Given the description of an element on the screen output the (x, y) to click on. 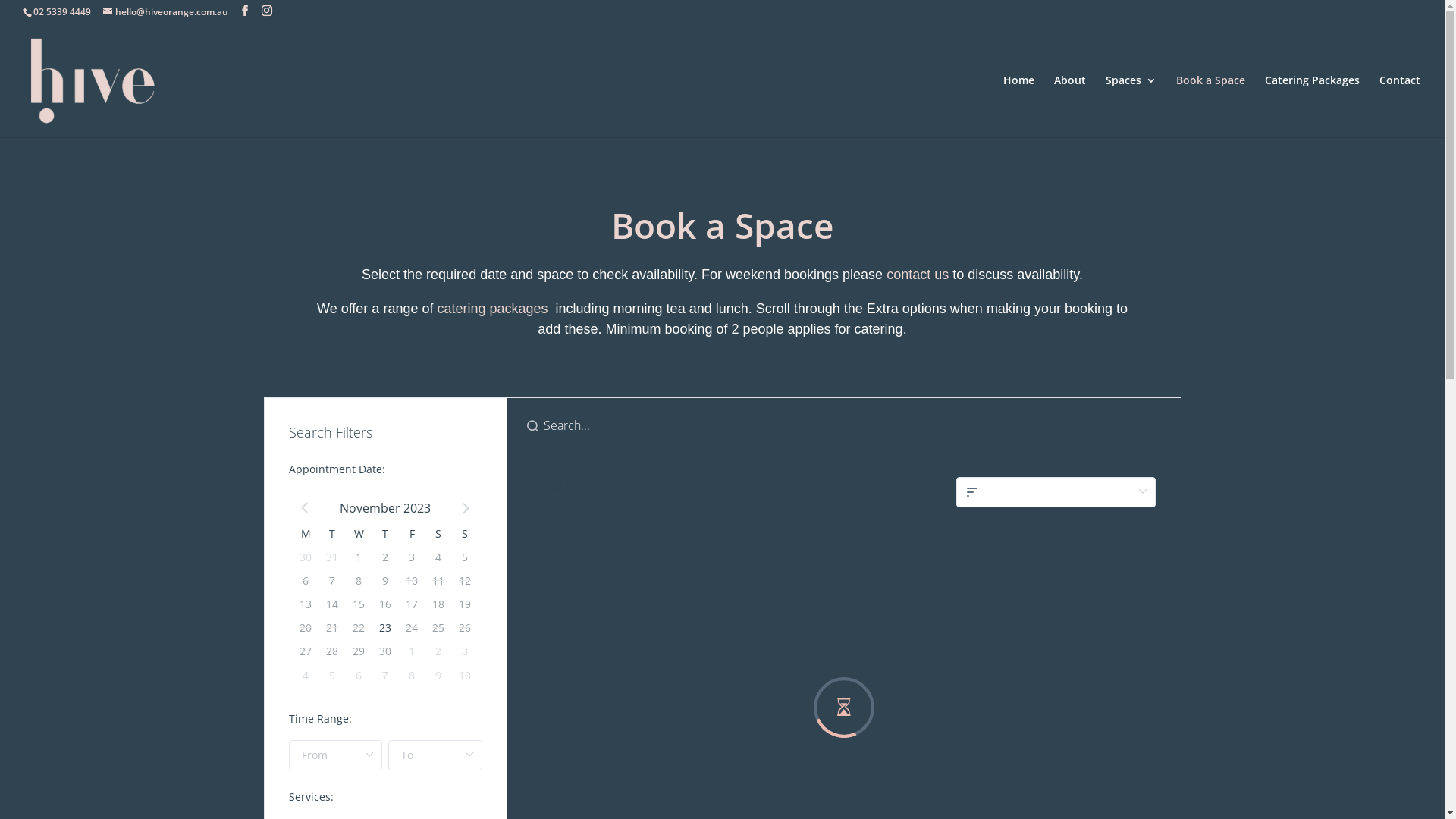
contact us Element type: text (917, 274)
Contact Element type: text (1399, 106)
02 5339 4449 Element type: text (62, 11)
Book a Space Element type: text (1210, 106)
Home Element type: text (1018, 106)
Catering Packages Element type: text (1311, 106)
About Element type: text (1069, 106)
catering packages Element type: text (491, 308)
hello@hiveorange.com.au Element type: text (165, 11)
Spaces Element type: text (1130, 106)
